Given the description of an element on the screen output the (x, y) to click on. 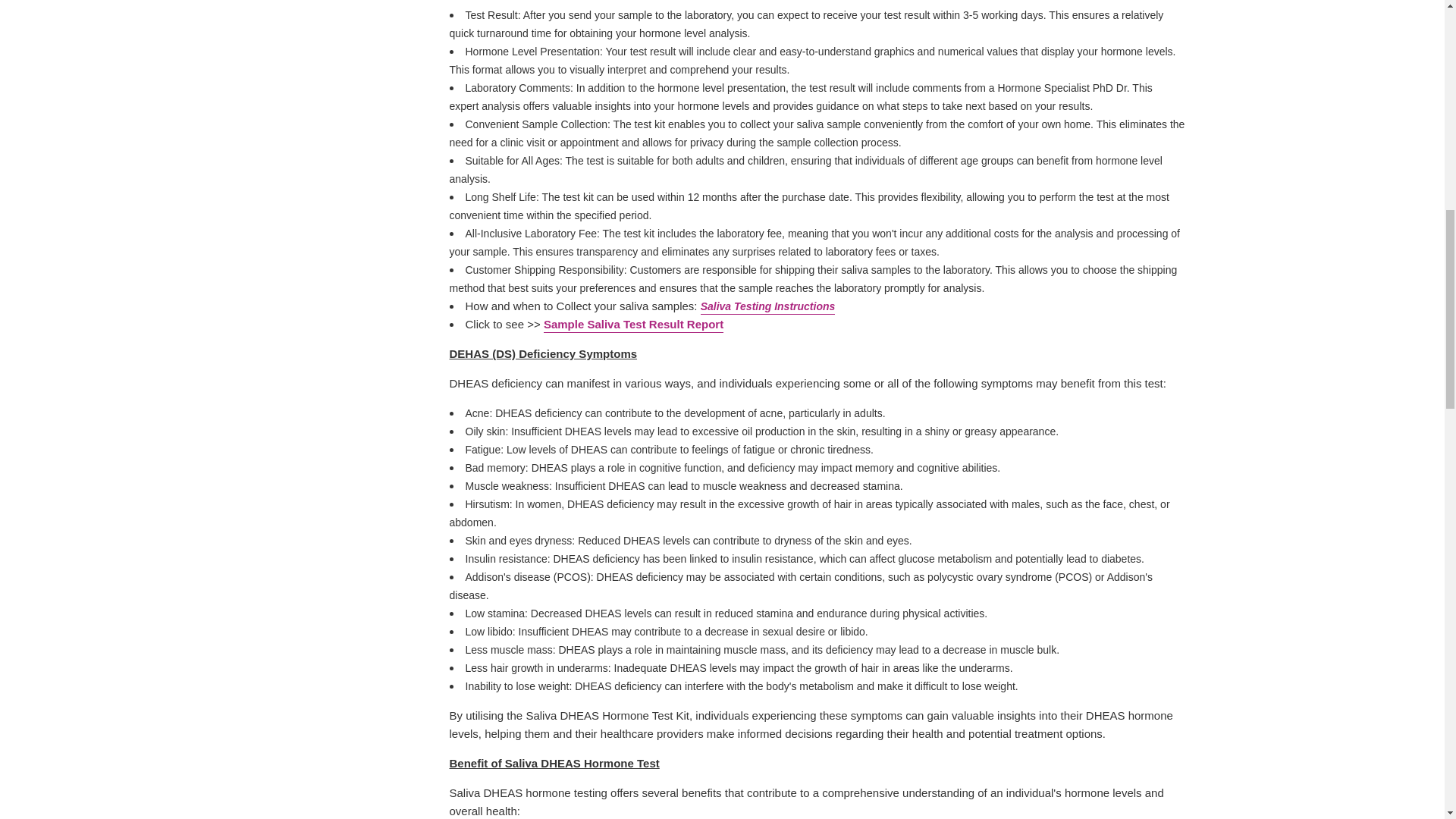
Sample Saliva Test Result Report (633, 324)
Saliva Testing Instructions (767, 307)
Saliva Testing Instructions (767, 307)
